Given the description of an element on the screen output the (x, y) to click on. 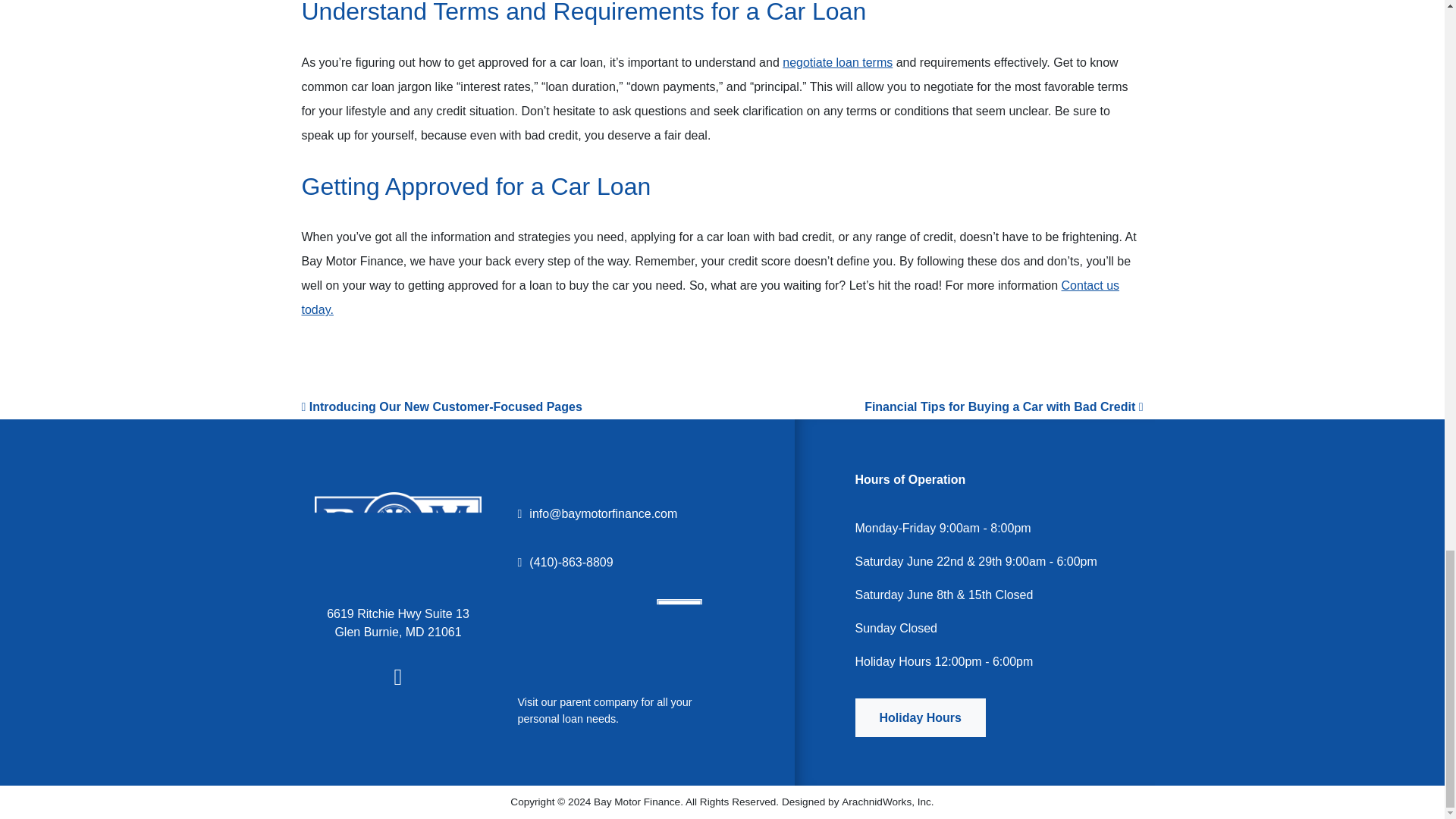
Contact us today. (710, 297)
negotiate loan terms (837, 62)
